Given the description of an element on the screen output the (x, y) to click on. 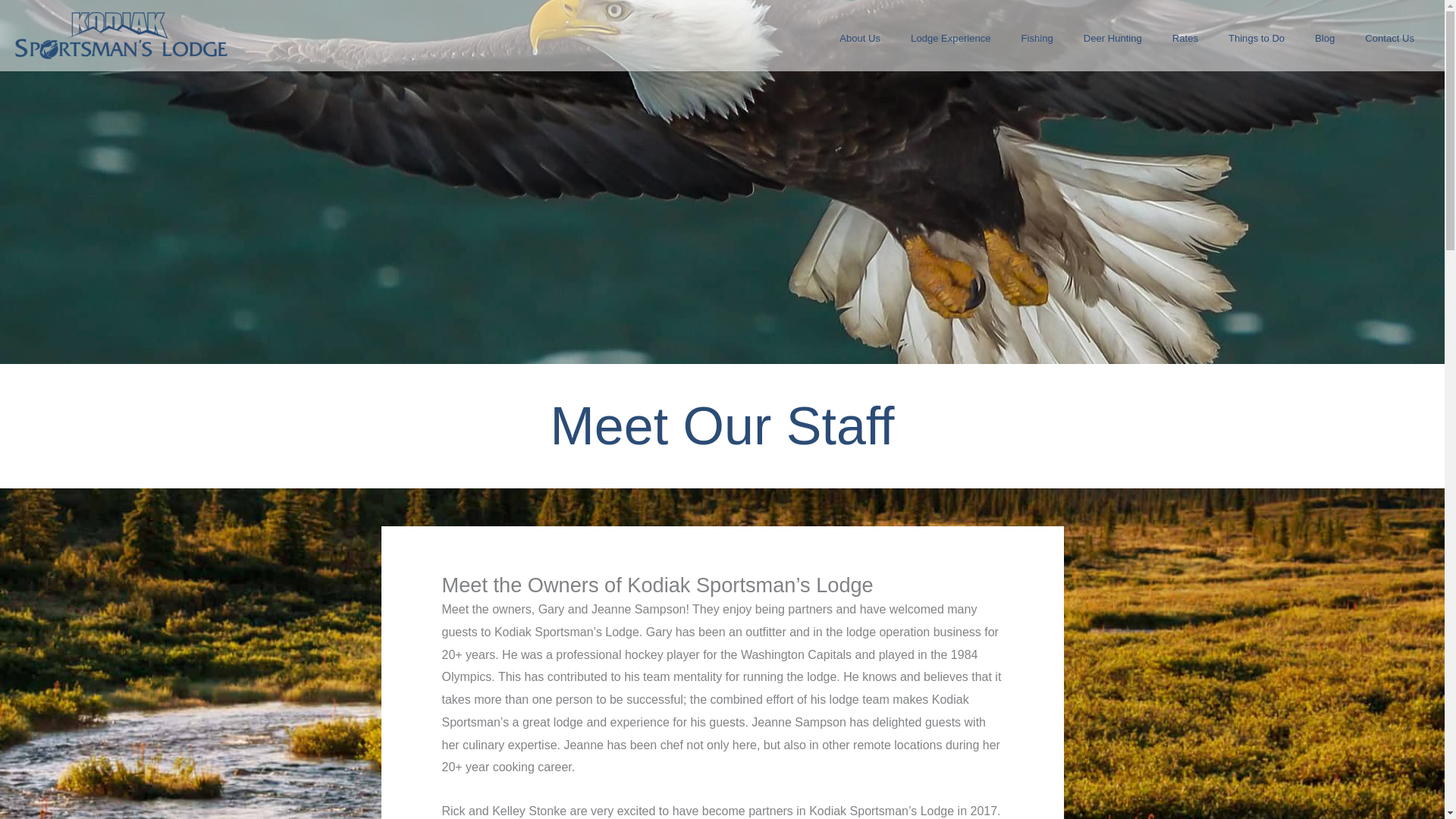
About Us (859, 38)
Things to Do (1256, 38)
Fishing (1037, 38)
Blog (1324, 38)
Lodge Experience (950, 38)
Contact Us (1389, 38)
Rates (1184, 38)
Deer Hunting (1112, 38)
